Given the description of an element on the screen output the (x, y) to click on. 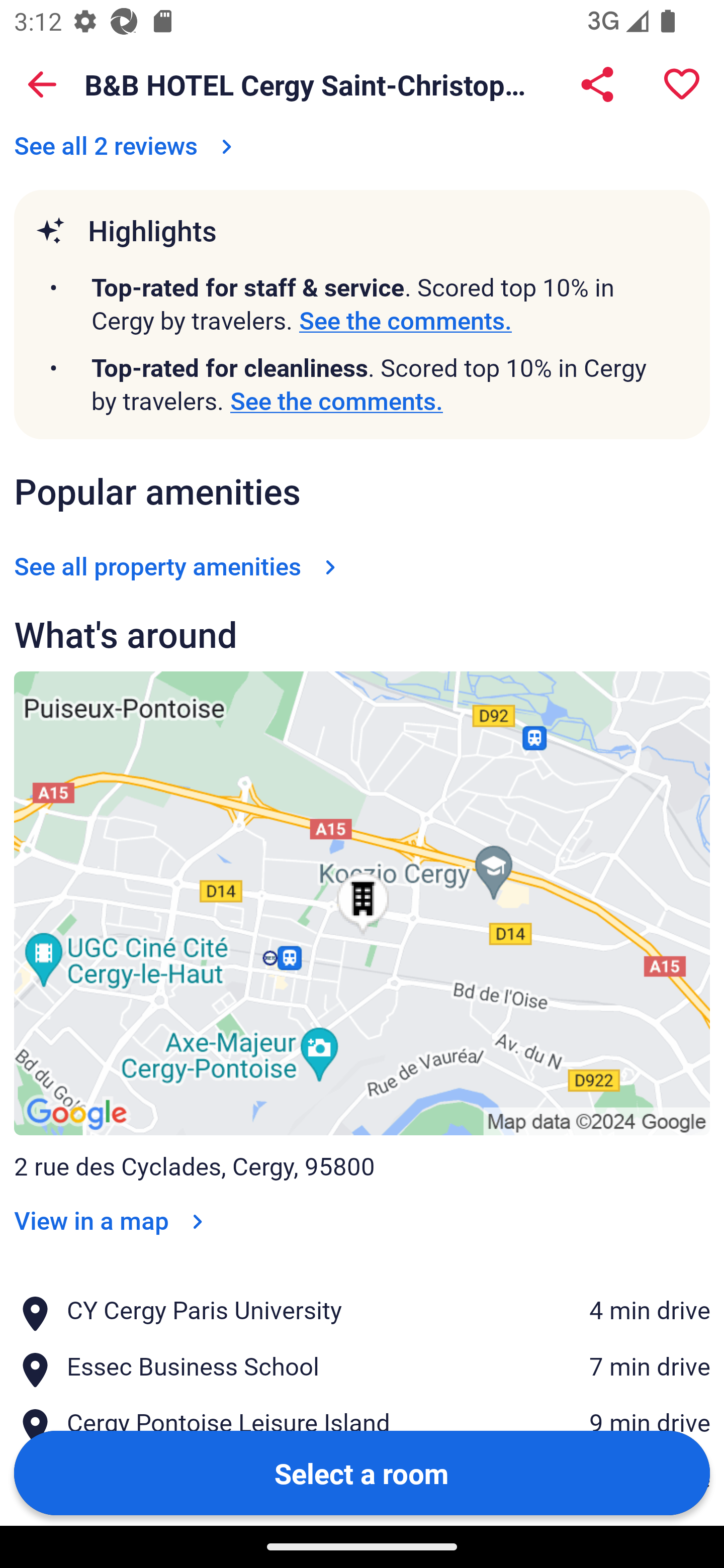
Back (42, 84)
Save property to a trip (681, 84)
Share B&B HOTEL Cergy Saint-Christophe Gare (597, 84)
See all 2 reviews See all 2 reviews Link (126, 145)
See all property amenities (178, 565)
Select a room Button Select a room (361, 1472)
